Given the description of an element on the screen output the (x, y) to click on. 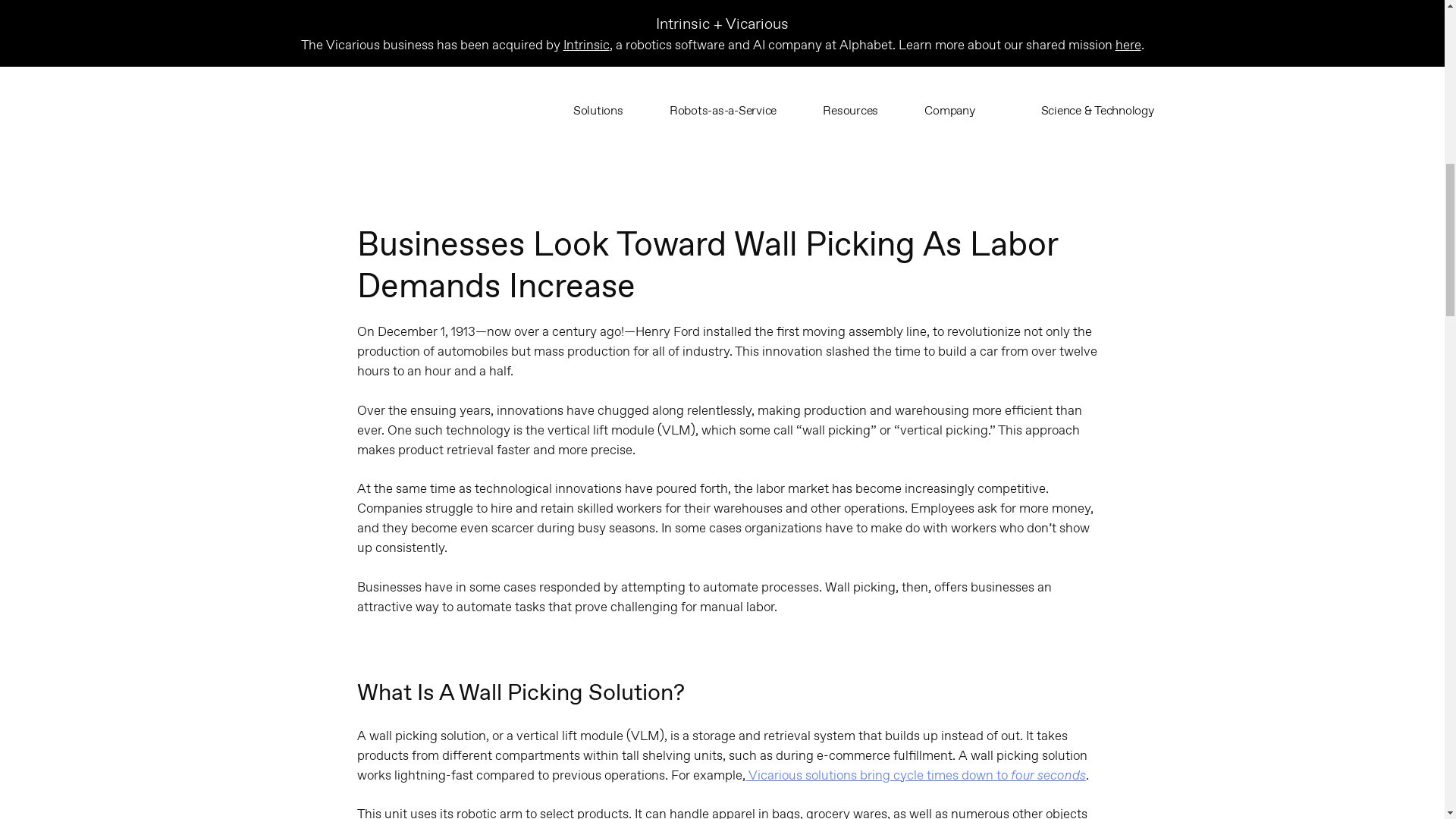
Vicarious solutions bring cycle times down to four seconds (915, 774)
